Given the description of an element on the screen output the (x, y) to click on. 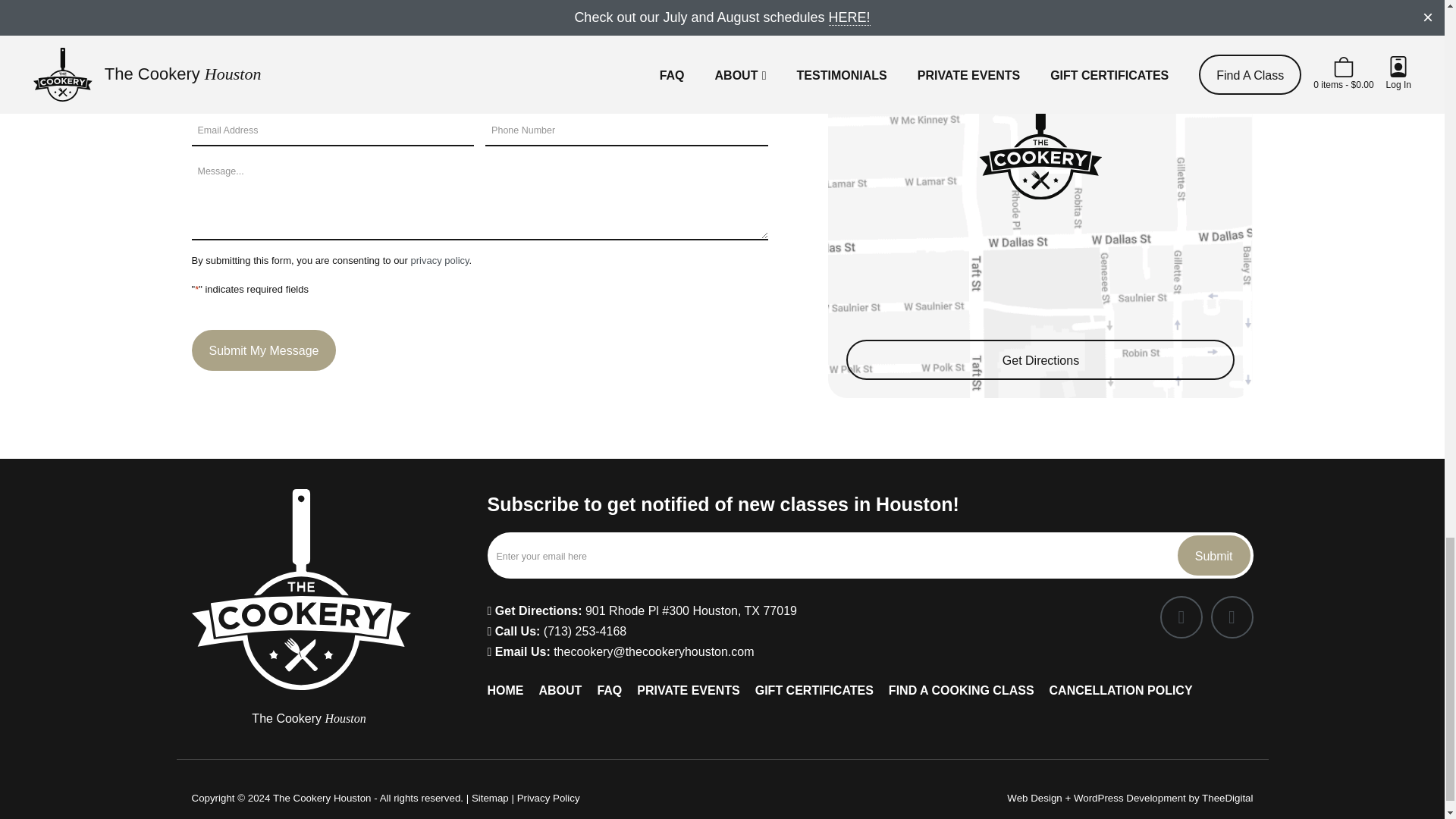
Submit Form (263, 350)
Cancellation Policy (561, 13)
Web Design Services (1034, 797)
Submit Form (1213, 555)
